Given the description of an element on the screen output the (x, y) to click on. 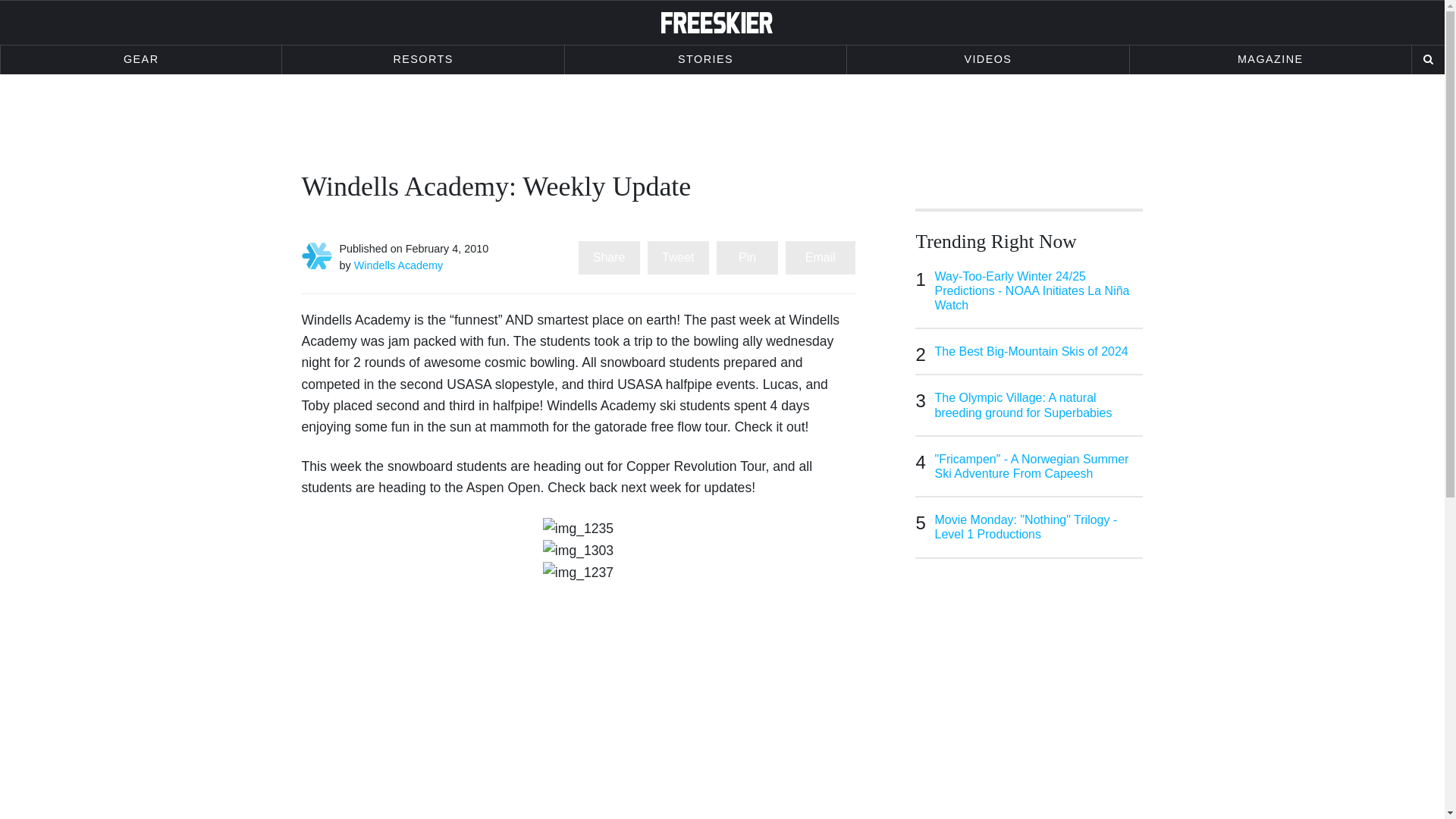
MAGAZINE (1269, 59)
MAGAZINE (1269, 59)
RESORTS (422, 59)
RESORTS (422, 59)
Windells Academy (398, 265)
GEAR (141, 59)
VIDEOS (987, 59)
STORIES (704, 59)
Movie Monday: "Nothing" Trilogy - Level 1 Productions (1038, 526)
VIDEOS (987, 59)
